Given the description of an element on the screen output the (x, y) to click on. 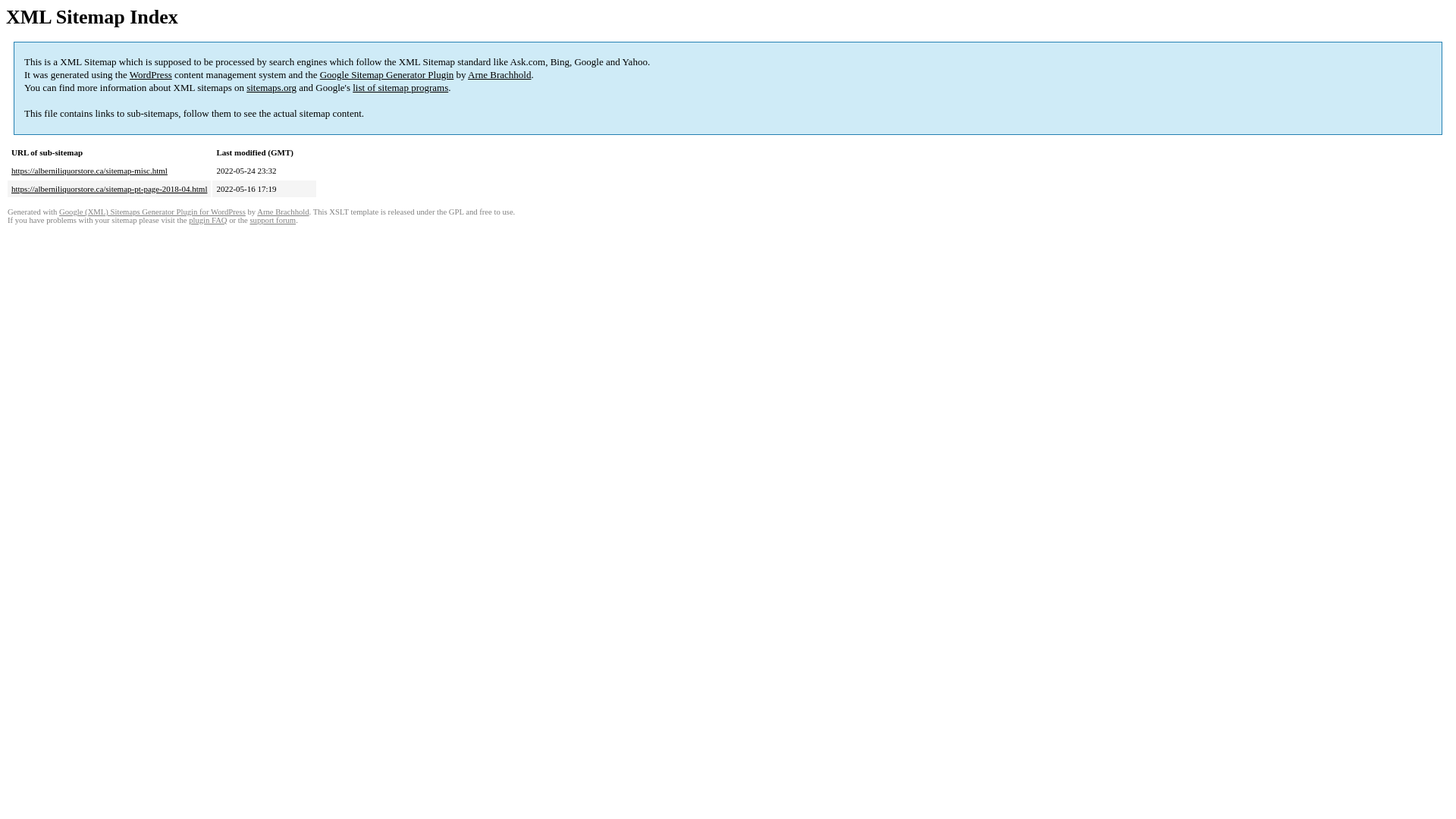
support forum Element type: text (272, 220)
Google Sitemap Generator Plugin Element type: text (387, 74)
sitemaps.org Element type: text (271, 87)
WordPress Element type: text (150, 74)
list of sitemap programs Element type: text (400, 87)
Google (XML) Sitemaps Generator Plugin for WordPress Element type: text (152, 211)
Arne Brachhold Element type: text (282, 211)
https://alberniliquorstore.ca/sitemap-misc.html Element type: text (89, 170)
https://alberniliquorstore.ca/sitemap-pt-page-2018-04.html Element type: text (109, 188)
Arne Brachhold Element type: text (498, 74)
plugin FAQ Element type: text (207, 220)
